Given the description of an element on the screen output the (x, y) to click on. 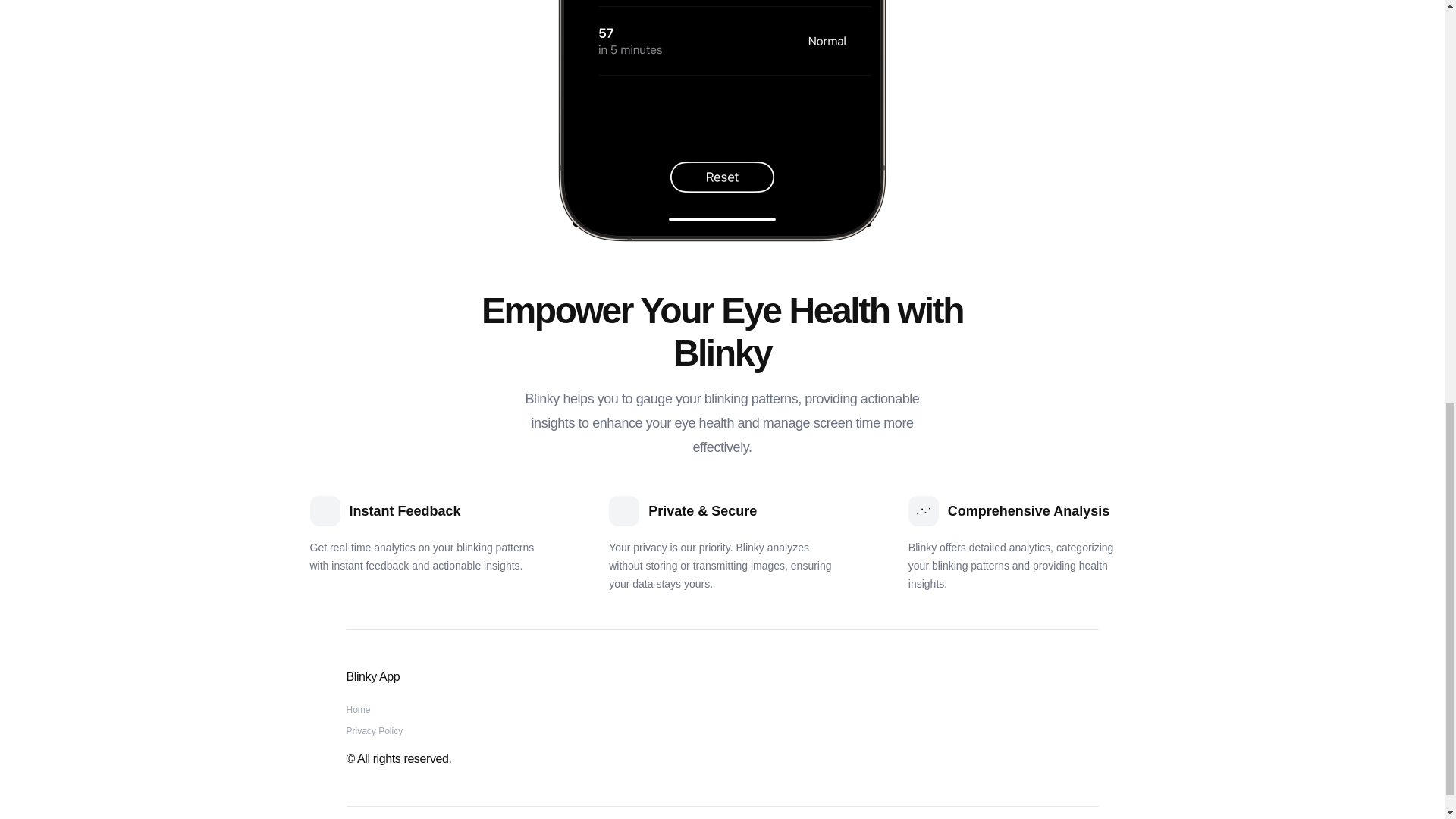
Privacy Policy (374, 730)
Home (357, 709)
